Given the description of an element on the screen output the (x, y) to click on. 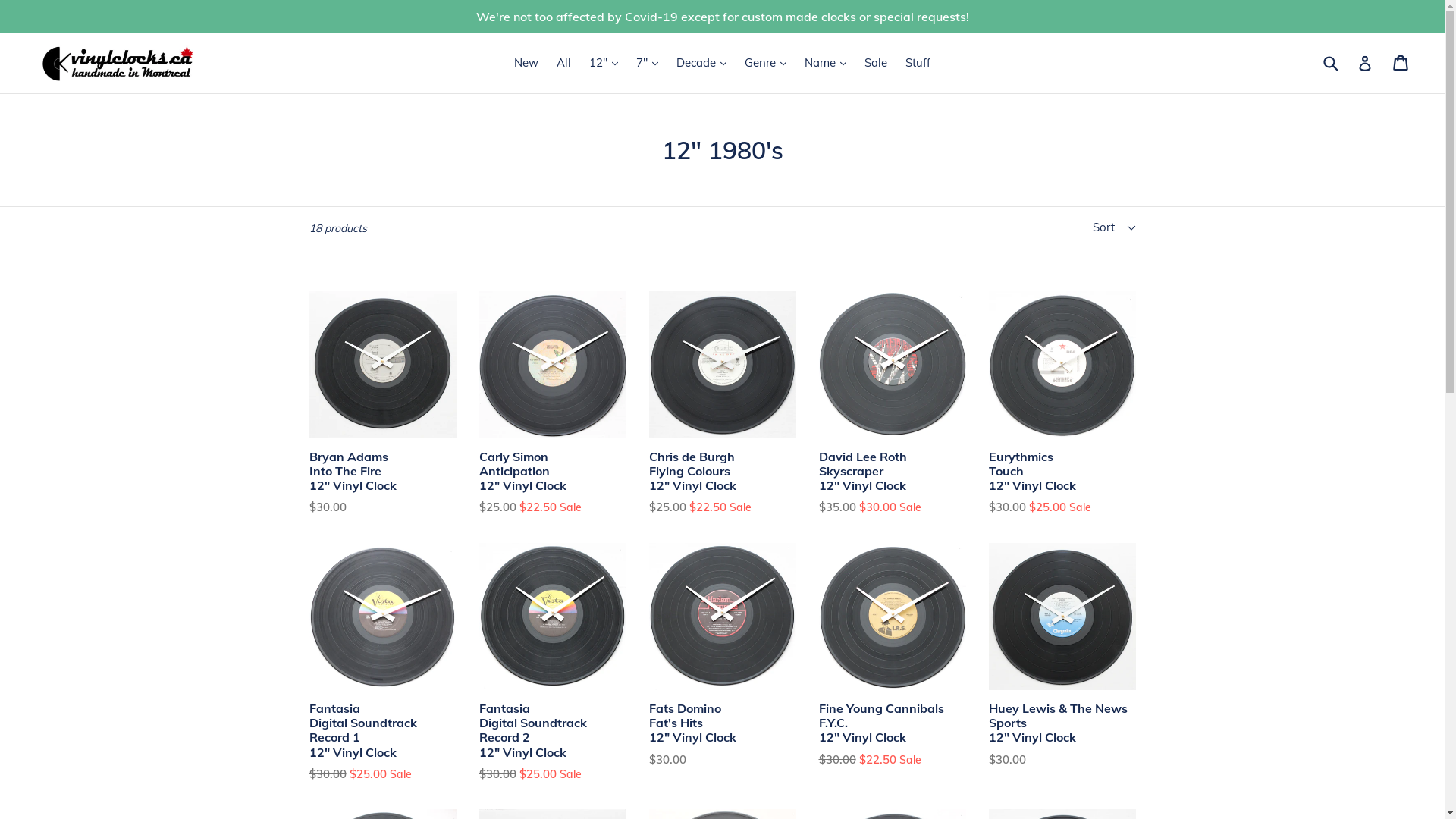
Submit Element type: text (1329, 62)
New Element type: text (526, 63)
All Element type: text (563, 63)
Cart
Cart Element type: text (1401, 62)
Sale Element type: text (875, 63)
Fats Domino
Fat's Hits
12" Vinyl Clock
Regular price
$30.00 Element type: text (722, 655)
Stuff Element type: text (917, 63)
Log in Element type: text (1364, 63)
